Given the description of an element on the screen output the (x, y) to click on. 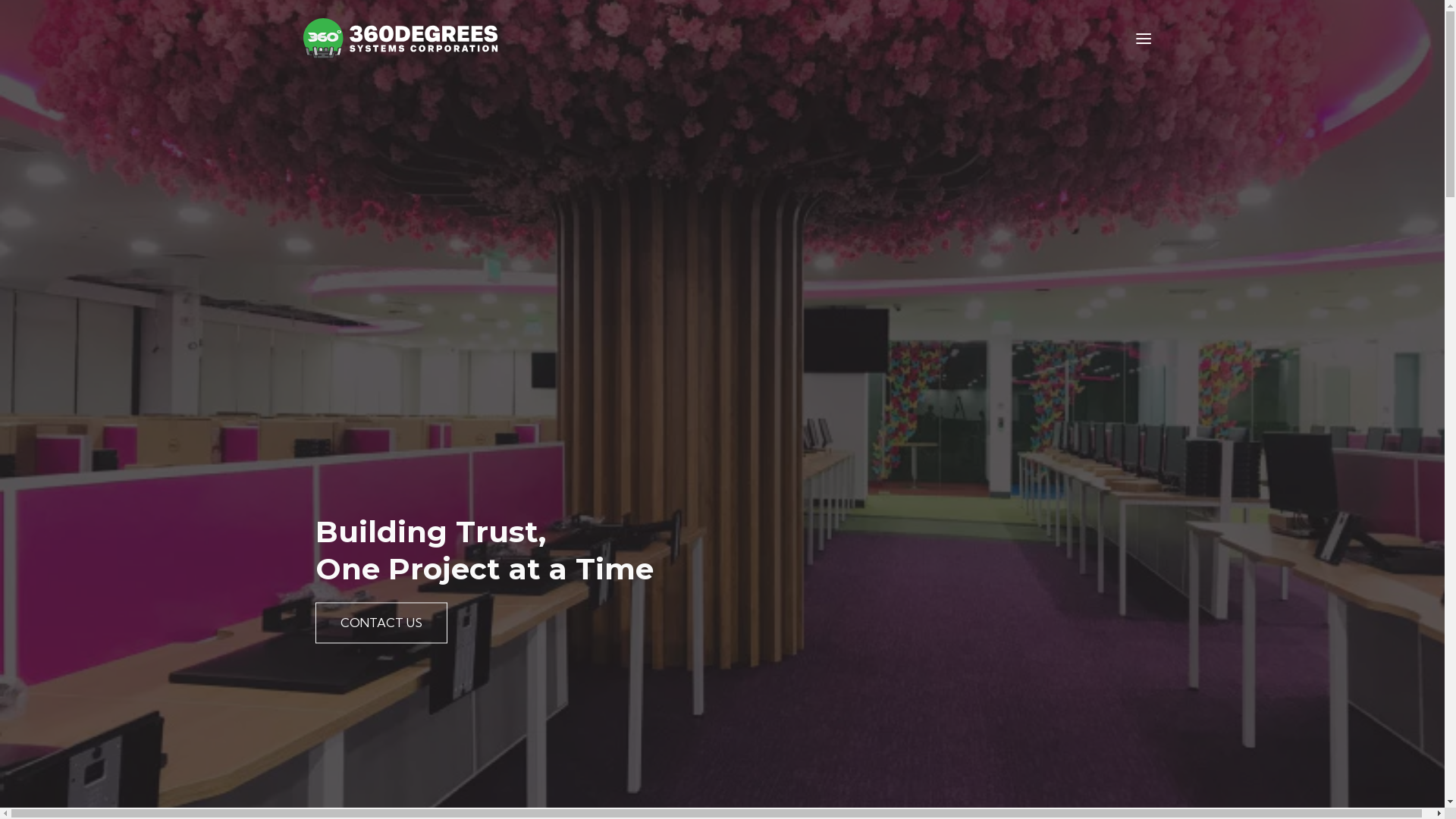
CONTACT US Element type: text (381, 622)
